Given the description of an element on the screen output the (x, y) to click on. 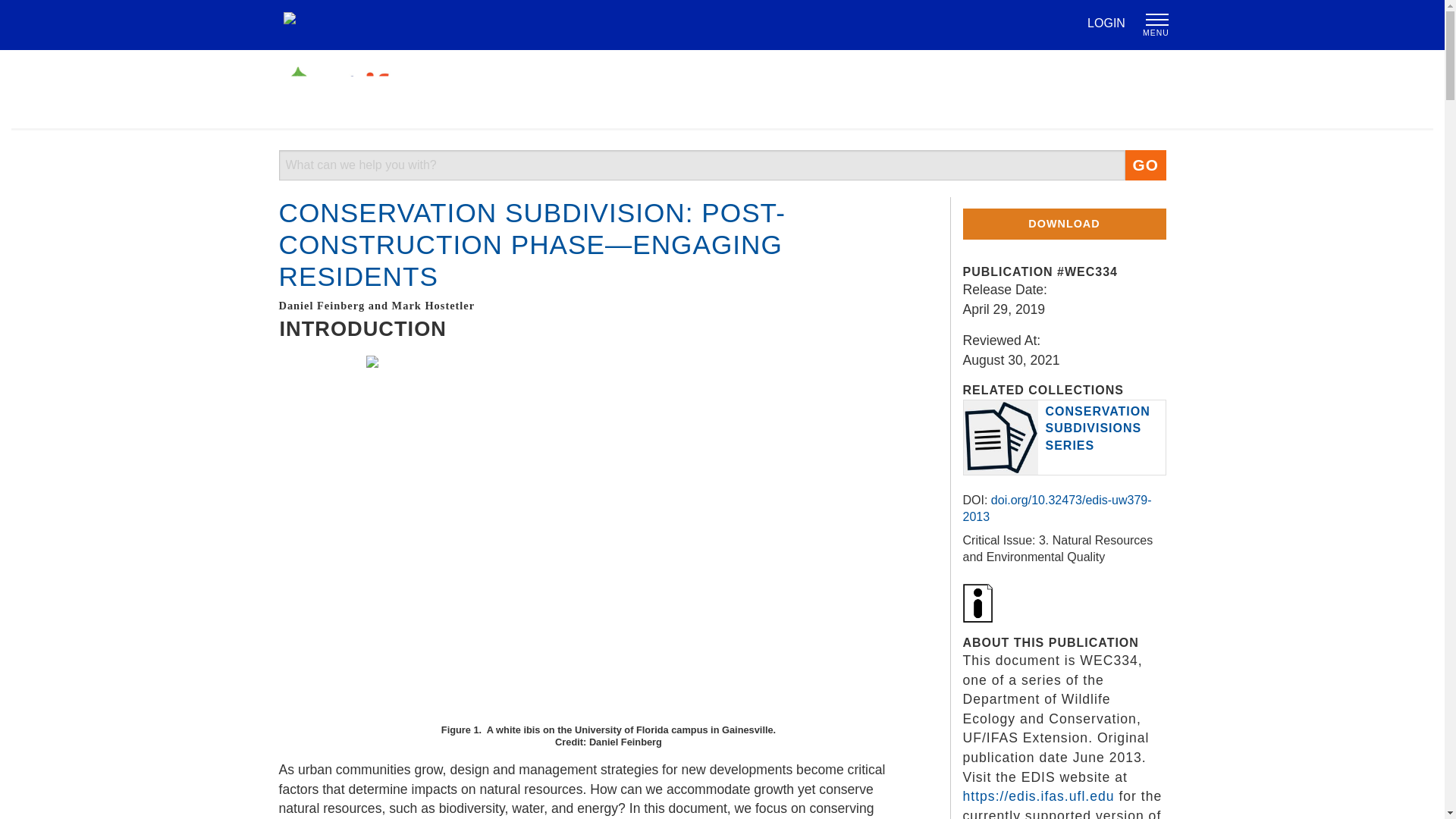
GO (1145, 164)
LOGIN (1106, 22)
EDIS Search (702, 164)
Conservation Subdivisions series (1097, 428)
AskIFAS Powered by EDIS (721, 88)
Download (1064, 223)
DOWNLOAD (1064, 223)
AskIFAS Powered by EDIS (353, 88)
CONSERVATION SUBDIVISIONS SERIES (1097, 428)
GO (1145, 164)
